Given the description of an element on the screen output the (x, y) to click on. 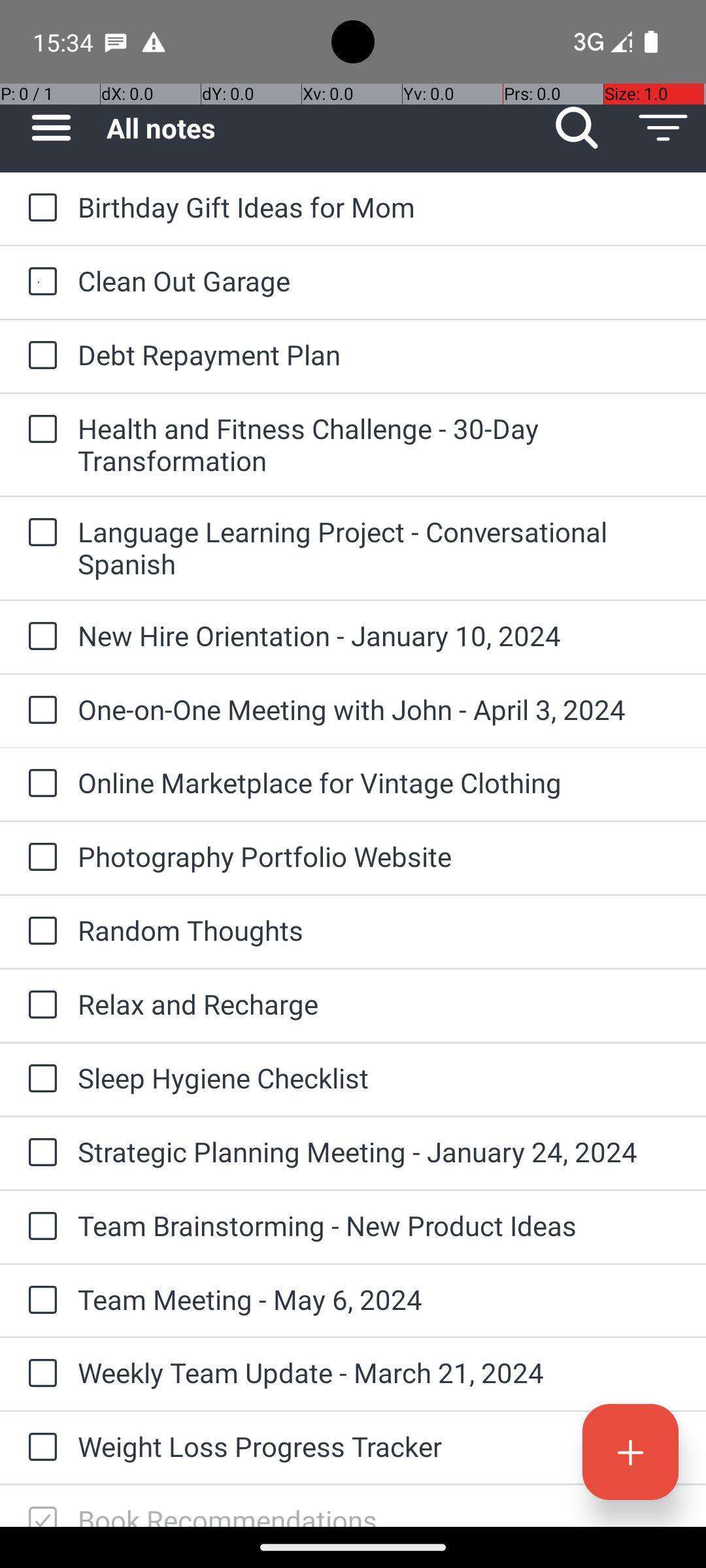
to-do: Birthday Gift Ideas for Mom Element type: android.widget.CheckBox (38, 208)
Birthday Gift Ideas for Mom Element type: android.widget.TextView (378, 206)
to-do: Clean Out Garage Element type: android.widget.CheckBox (38, 282)
Clean Out Garage Element type: android.widget.TextView (378, 280)
to-do: Debt Repayment Plan Element type: android.widget.CheckBox (38, 356)
Debt Repayment Plan Element type: android.widget.TextView (378, 354)
to-do: Health and Fitness Challenge - 30-Day Transformation Element type: android.widget.CheckBox (38, 429)
Health and Fitness Challenge - 30-Day Transformation Element type: android.widget.TextView (378, 443)
to-do: Language Learning Project - Conversational Spanish Element type: android.widget.CheckBox (38, 533)
Language Learning Project - Conversational Spanish Element type: android.widget.TextView (378, 547)
to-do: New Hire Orientation - January 10, 2024 Element type: android.widget.CheckBox (38, 636)
New Hire Orientation - January 10, 2024 Element type: android.widget.TextView (378, 634)
to-do: One-on-One Meeting with John - April 3, 2024 Element type: android.widget.CheckBox (38, 710)
One-on-One Meeting with John - April 3, 2024 Element type: android.widget.TextView (378, 708)
to-do: Online Marketplace for Vintage Clothing Element type: android.widget.CheckBox (38, 784)
Online Marketplace for Vintage Clothing Element type: android.widget.TextView (378, 781)
to-do: Photography Portfolio Website Element type: android.widget.CheckBox (38, 857)
Photography Portfolio Website Element type: android.widget.TextView (378, 855)
to-do: Random Thoughts Element type: android.widget.CheckBox (38, 931)
Random Thoughts Element type: android.widget.TextView (378, 929)
to-do: Relax and Recharge Element type: android.widget.CheckBox (38, 1005)
Relax and Recharge Element type: android.widget.TextView (378, 1003)
to-do: Sleep Hygiene Checklist Element type: android.widget.CheckBox (38, 1079)
Sleep Hygiene Checklist Element type: android.widget.TextView (378, 1077)
to-do: Strategic Planning Meeting - January 24, 2024 Element type: android.widget.CheckBox (38, 1153)
Strategic Planning Meeting - January 24, 2024 Element type: android.widget.TextView (378, 1151)
to-do: Team Brainstorming - New Product Ideas Element type: android.widget.CheckBox (38, 1226)
Team Brainstorming - New Product Ideas Element type: android.widget.TextView (378, 1224)
to-do: Team Meeting - May 6, 2024 Element type: android.widget.CheckBox (38, 1300)
Team Meeting - May 6, 2024 Element type: android.widget.TextView (378, 1298)
to-do: Weekly Team Update - March 21, 2024 Element type: android.widget.CheckBox (38, 1373)
Weekly Team Update - March 21, 2024 Element type: android.widget.TextView (378, 1371)
to-do: Weight Loss Progress Tracker Element type: android.widget.CheckBox (38, 1447)
Weight Loss Progress Tracker Element type: android.widget.TextView (378, 1445)
to-do: Book Recommendations Element type: android.widget.CheckBox (38, 1505)
Book Recommendations Element type: android.widget.TextView (378, 1513)
 Element type: android.widget.TextView (42, 1514)
